Given the description of an element on the screen output the (x, y) to click on. 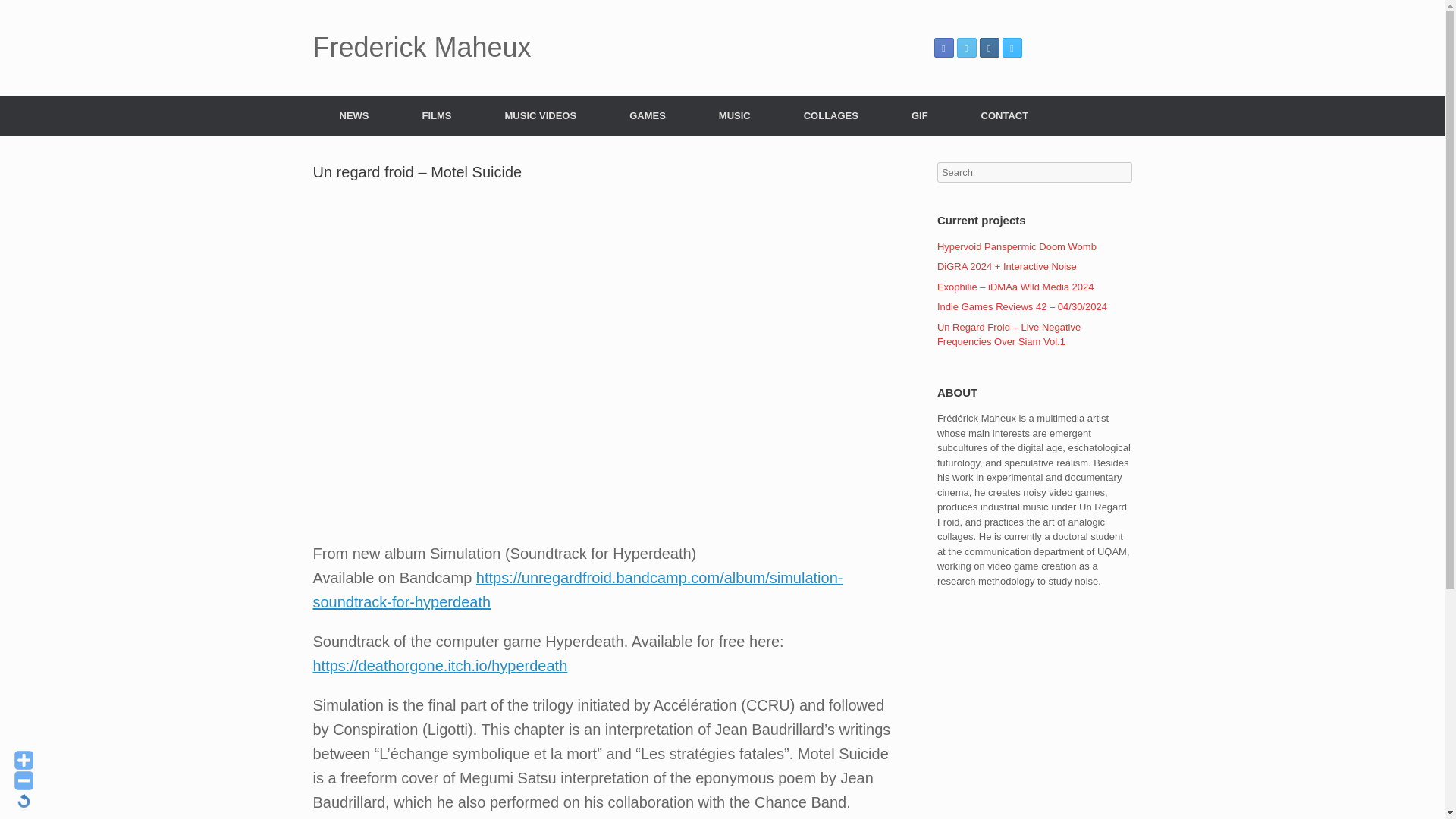
CONTACT (1005, 115)
Increase font size (23, 760)
Frederick Maheux Twitter (966, 47)
Hypervoid Panspermic Doom Womb (1016, 246)
FILMS (437, 115)
Frederick Maheux (422, 47)
COLLAGES (831, 115)
Frederick Maheux Facebook (943, 47)
GIF (920, 115)
